Given the description of an element on the screen output the (x, y) to click on. 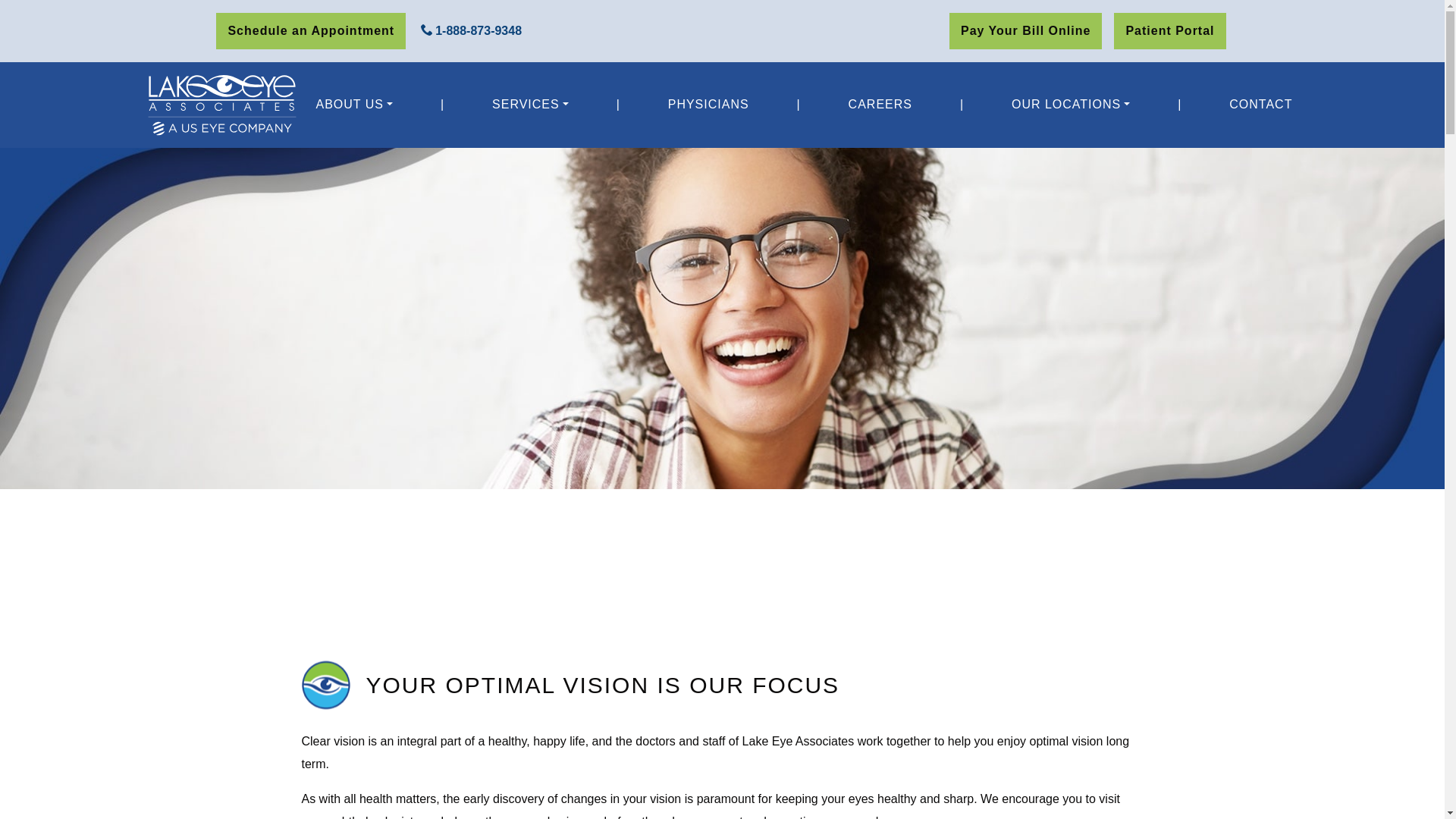
About Us (353, 103)
Patient Portal (1169, 31)
SERVICES (530, 103)
Pay Your Bill Online (1025, 31)
PHYSICIANS (708, 103)
CAREERS (880, 103)
1-888-873-9348 (470, 30)
ABOUT US (353, 103)
Schedule an Appointment (310, 31)
OUR LOCATIONS (1070, 103)
